Given the description of an element on the screen output the (x, y) to click on. 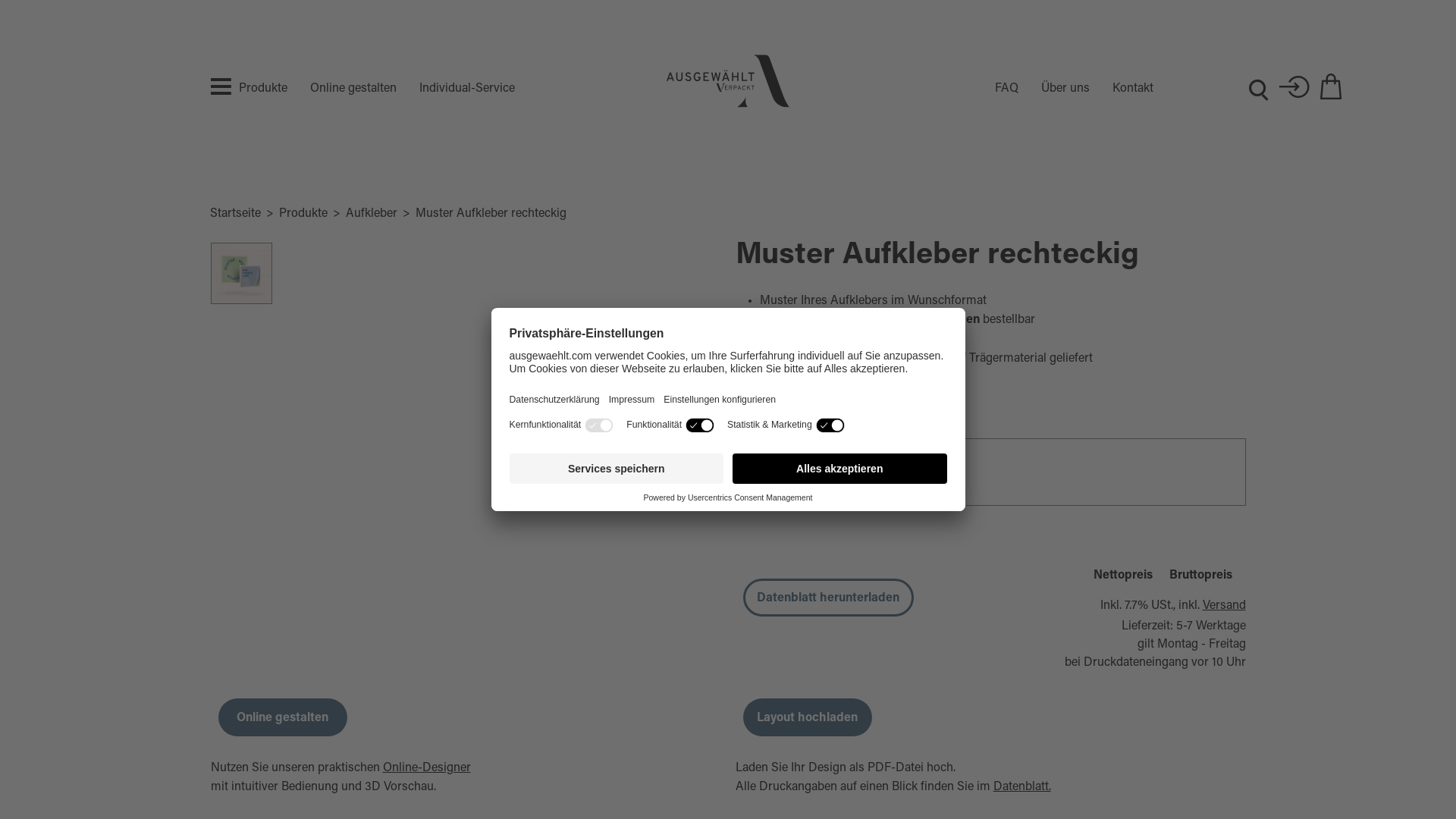
Online-Designer Element type: text (426, 768)
Kontakt Element type: text (1120, 89)
Auf Facebook teilen Element type: hover (631, 213)
FAQ Element type: text (995, 89)
Aufkleber Element type: text (371, 213)
Share on Instagram Element type: hover (657, 213)
Produkte Element type: text (303, 213)
Produkte Element type: text (262, 89)
Online gestalten Element type: text (282, 717)
Individual-Service Element type: text (454, 89)
Datenblatt. Element type: text (1022, 787)
Datenblatt herunterladen Element type: text (828, 597)
Versand Element type: text (1223, 605)
Online gestalten Element type: text (340, 89)
Startseite Element type: text (235, 213)
